Given the description of an element on the screen output the (x, y) to click on. 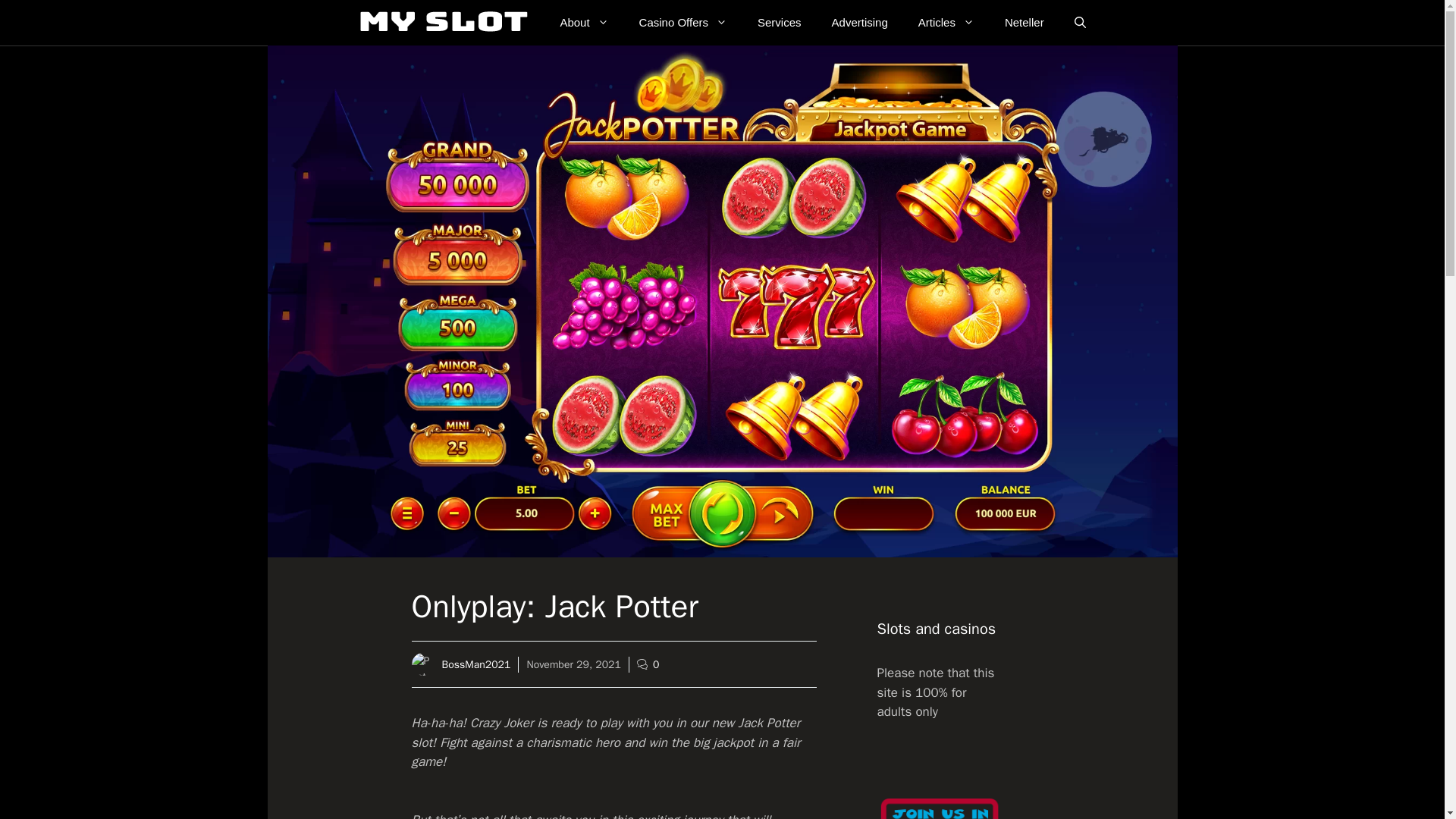
Articles (946, 22)
Advertising (859, 22)
About (583, 22)
Casino Offers (683, 22)
MySlot (443, 22)
Neteller (1024, 22)
BossMan2021 (476, 664)
Services (779, 22)
